Given the description of an element on the screen output the (x, y) to click on. 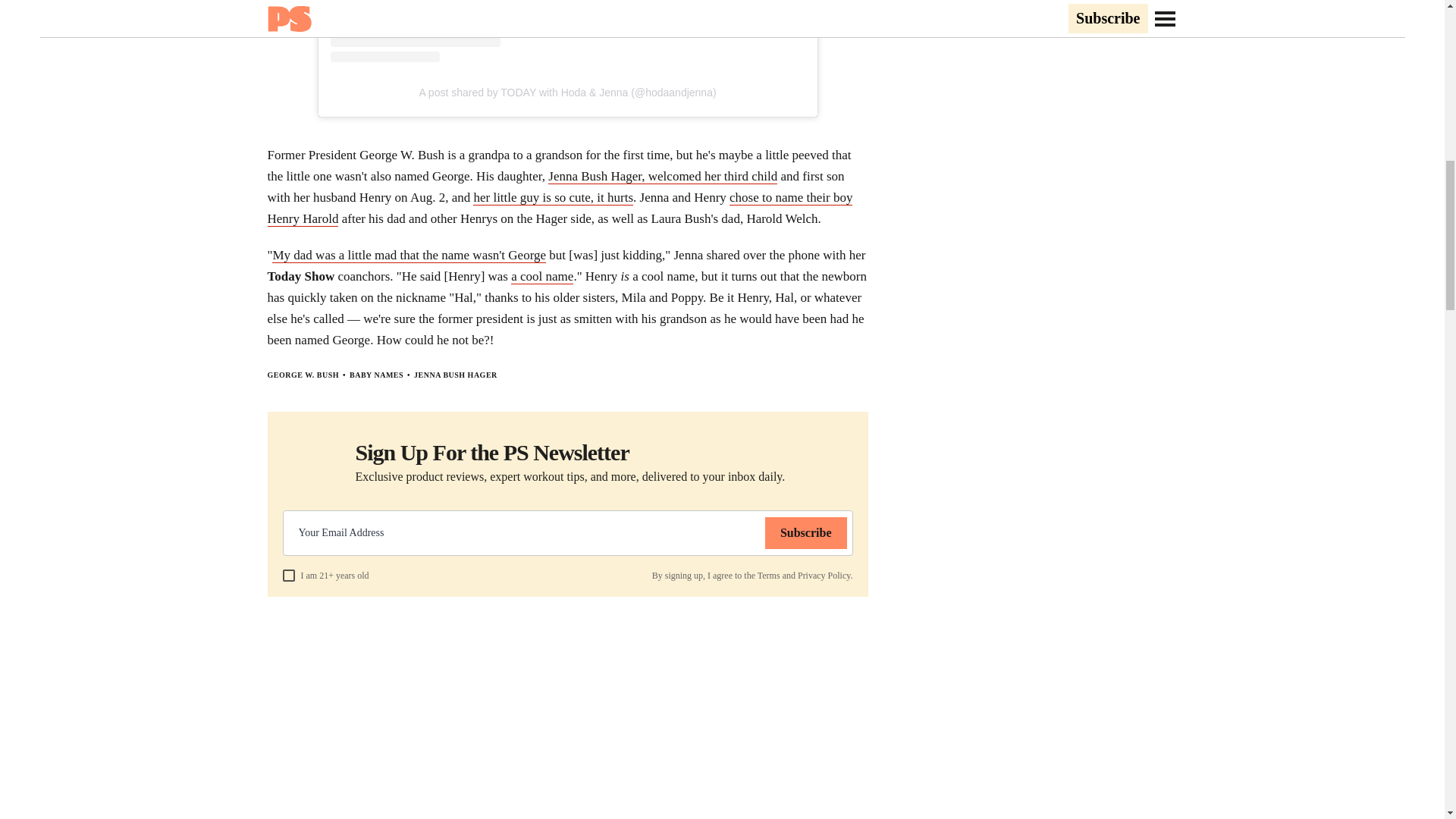
My dad was a little mad that the name wasn't George (409, 255)
Subscribe (806, 532)
View this post on Instagram (567, 31)
chose to name their boy Henry Harold (558, 208)
Jenna Bush Hager, welcomed her third child (662, 176)
a cool name (542, 276)
her little guy is so cute, it hurts (553, 197)
Terms (768, 575)
Privacy Policy. (825, 575)
BABY NAMES (376, 375)
JENNA BUSH HAGER (455, 375)
GEORGE W. BUSH (302, 375)
